Given the description of an element on the screen output the (x, y) to click on. 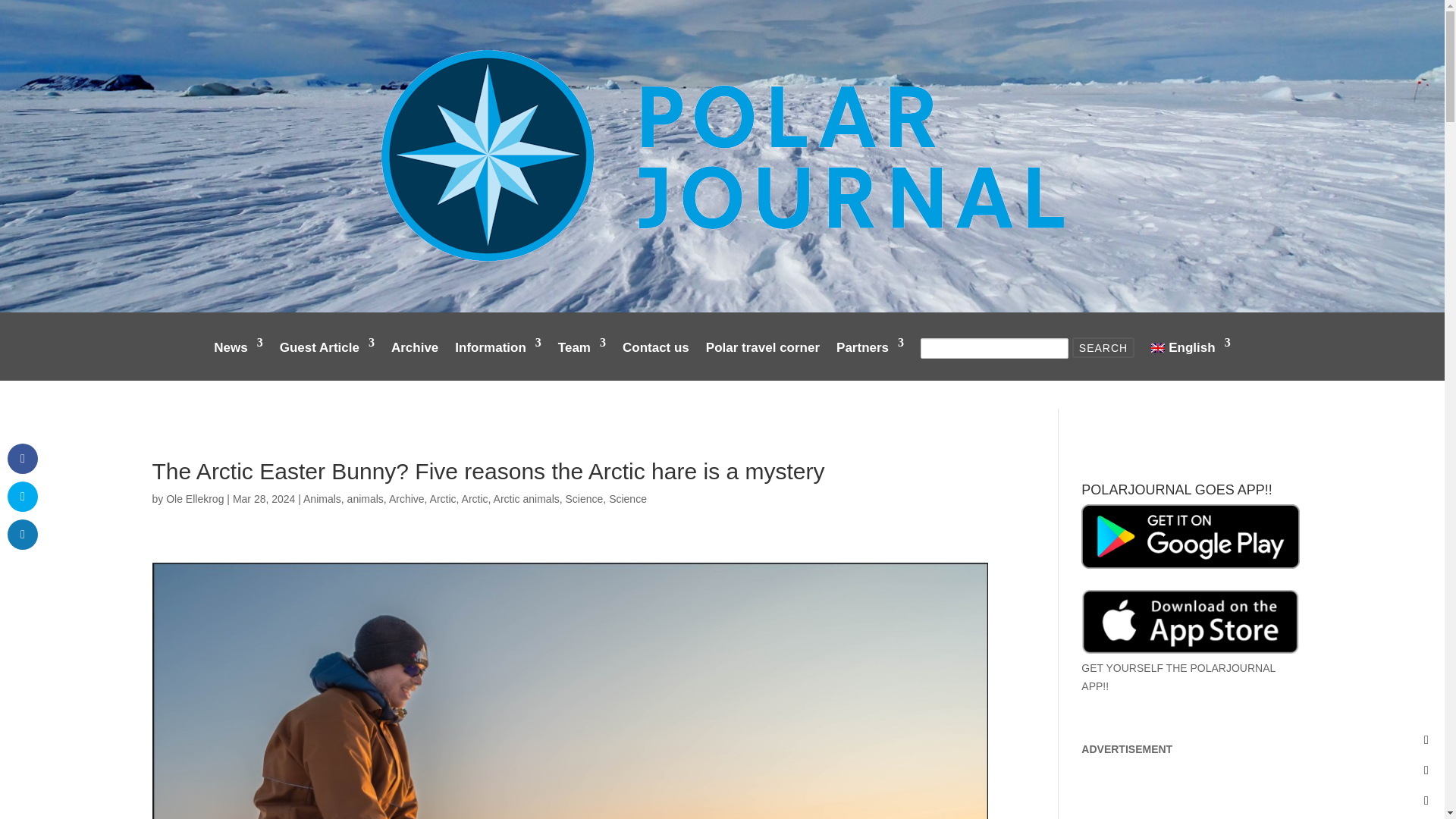
News (238, 358)
Posts by Ole Ellekrog (194, 499)
Search (1102, 347)
advertisement (1190, 536)
advertisement (1190, 621)
Guest Article (326, 358)
English (1190, 358)
